Given the description of an element on the screen output the (x, y) to click on. 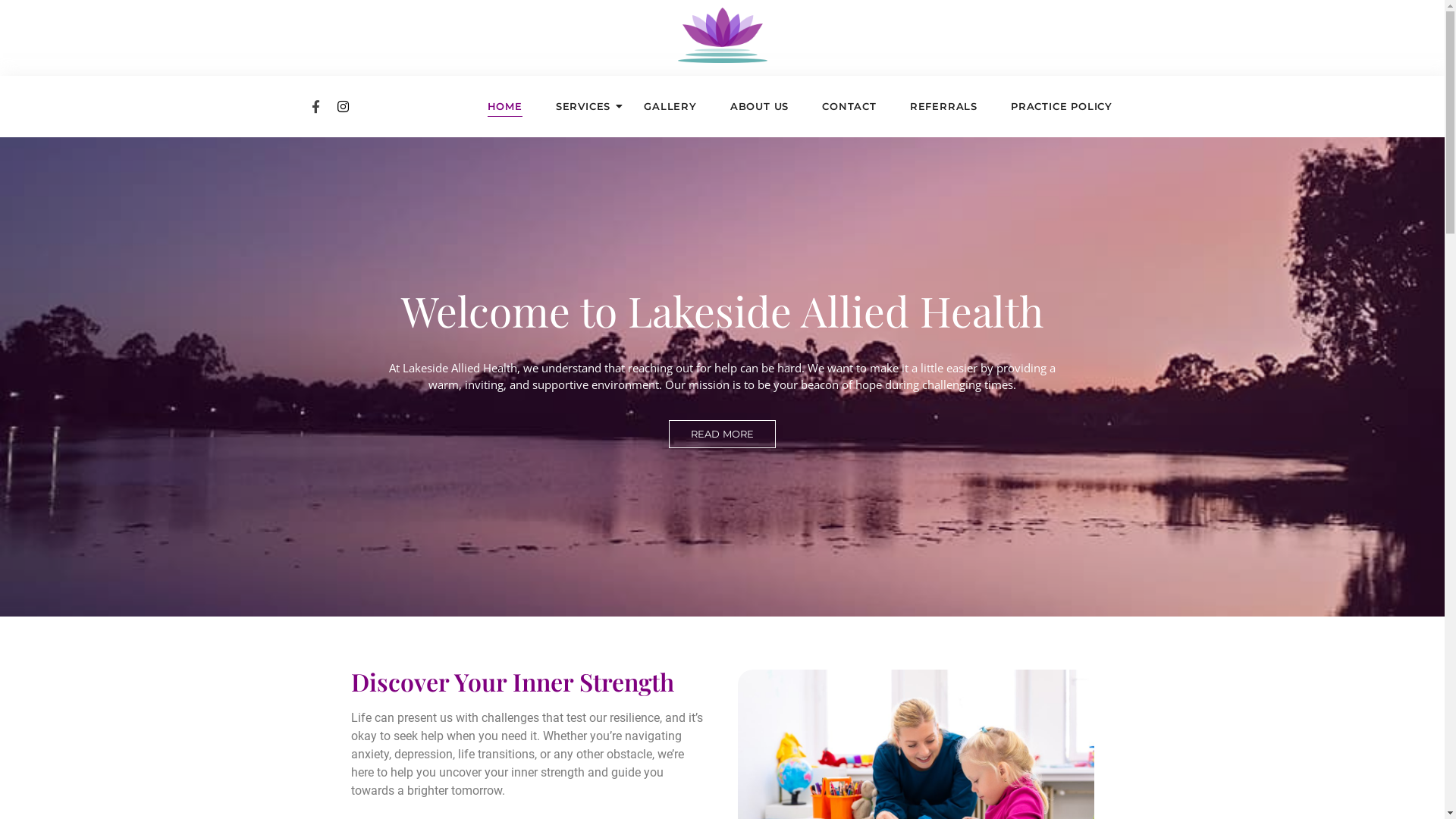
HOME Element type: text (503, 106)
READ MORE Element type: text (722, 434)
GALLERY Element type: text (670, 106)
PRACTICE POLICY Element type: text (1061, 106)
CONTACT Element type: text (848, 106)
REFERRALS Element type: text (943, 106)
SERVICES Element type: text (582, 106)
ABOUT US Element type: text (759, 106)
